Given the description of an element on the screen output the (x, y) to click on. 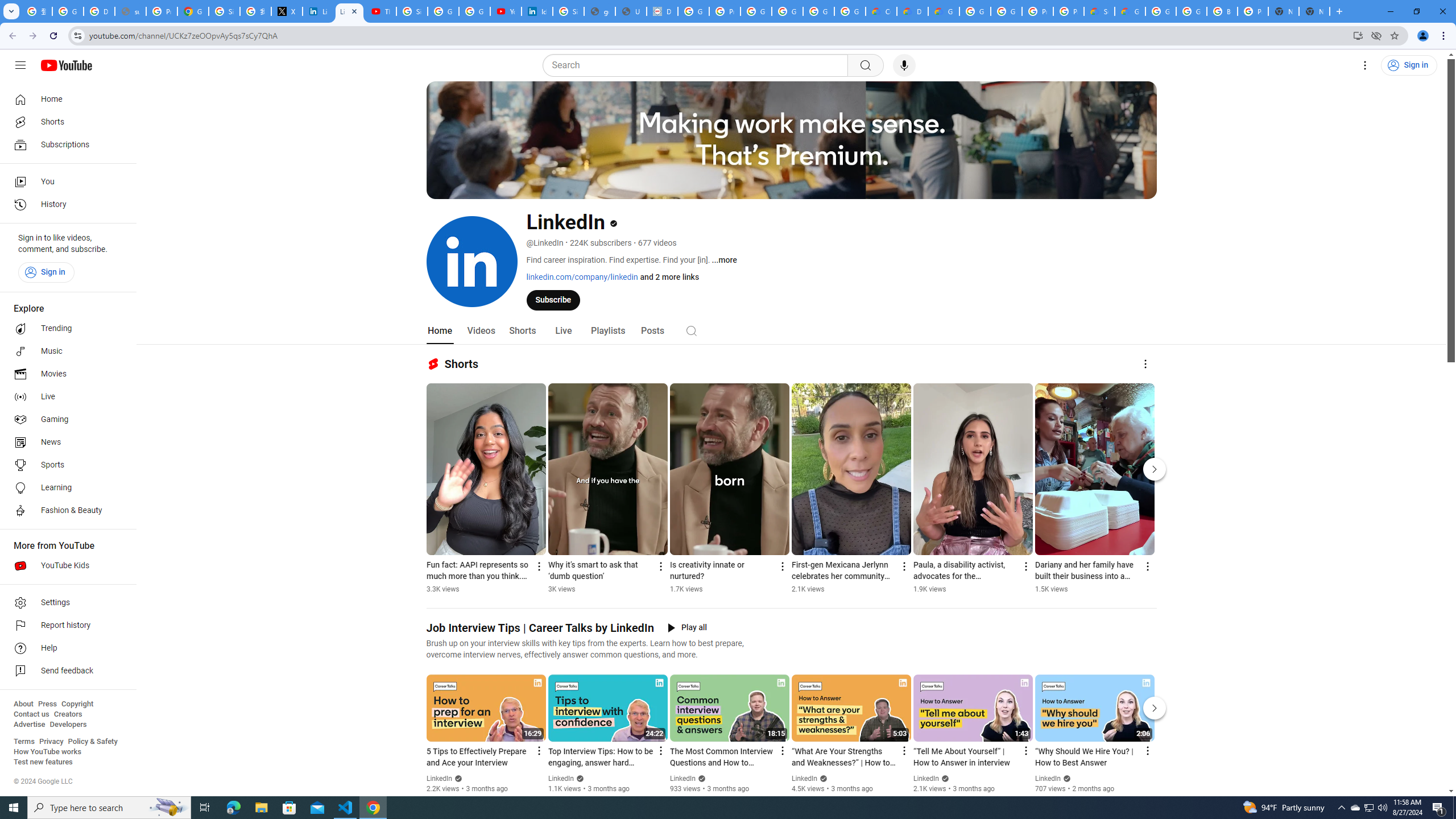
Trending (64, 328)
Gemini for Business and Developers | Google Cloud (943, 11)
Sign in - Google Accounts (223, 11)
Videos (481, 330)
Contact us (31, 714)
X (286, 11)
Sports (64, 464)
Developers (68, 724)
Test new features (42, 761)
